Given the description of an element on the screen output the (x, y) to click on. 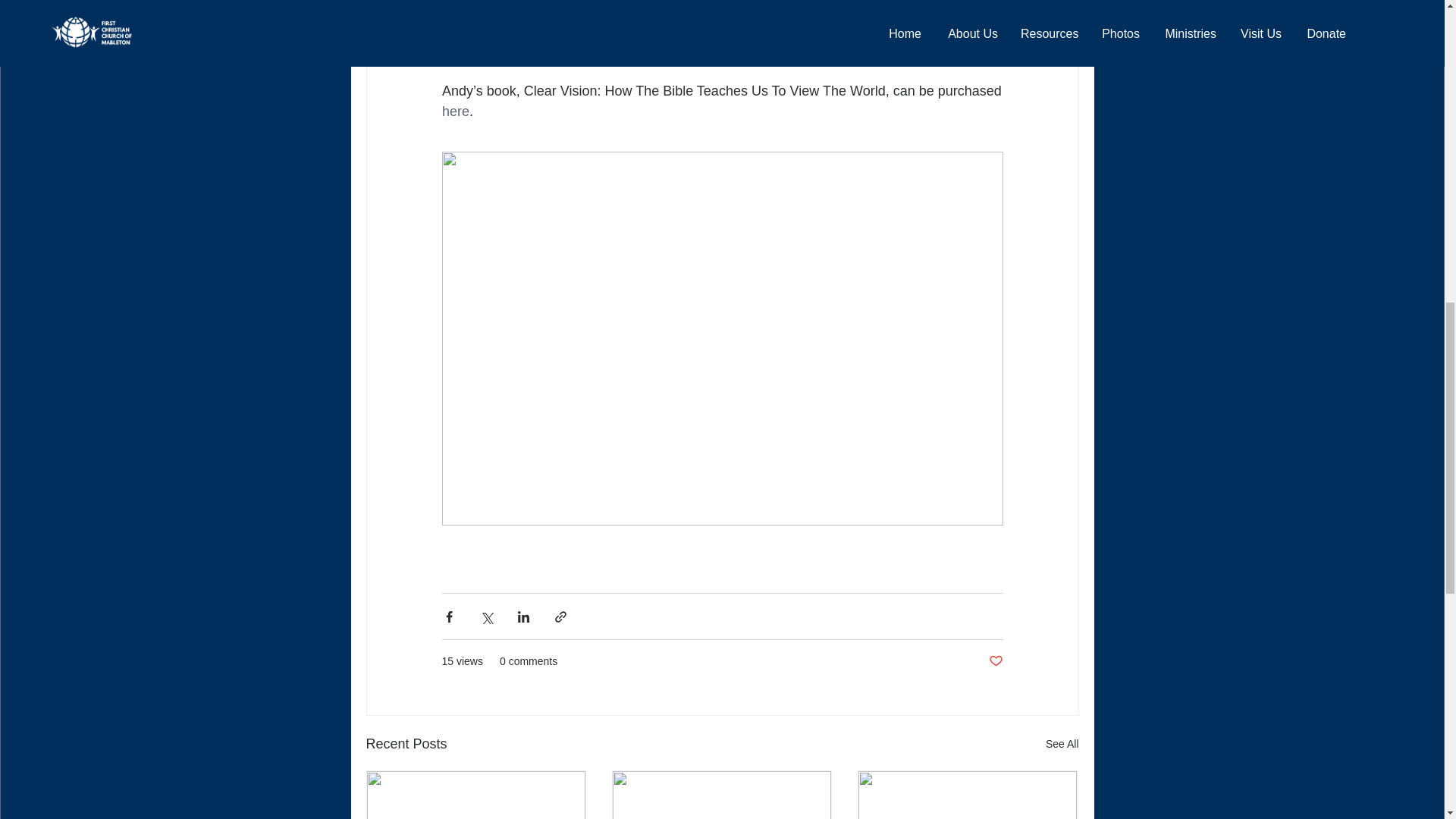
See All (1061, 744)
Post not marked as liked (995, 661)
here (454, 111)
